Given the description of an element on the screen output the (x, y) to click on. 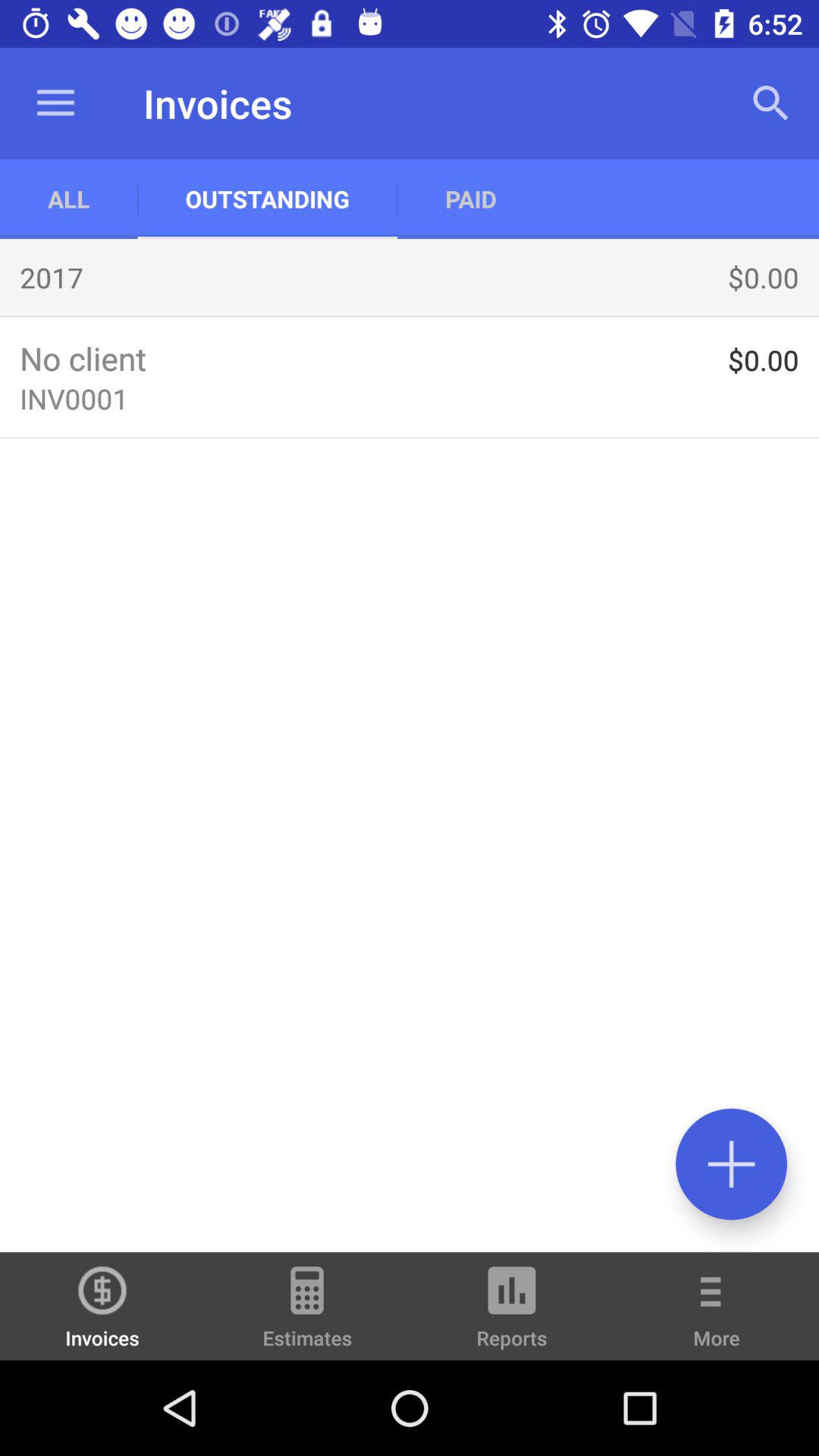
launch app to the left of outstanding app (55, 103)
